Given the description of an element on the screen output the (x, y) to click on. 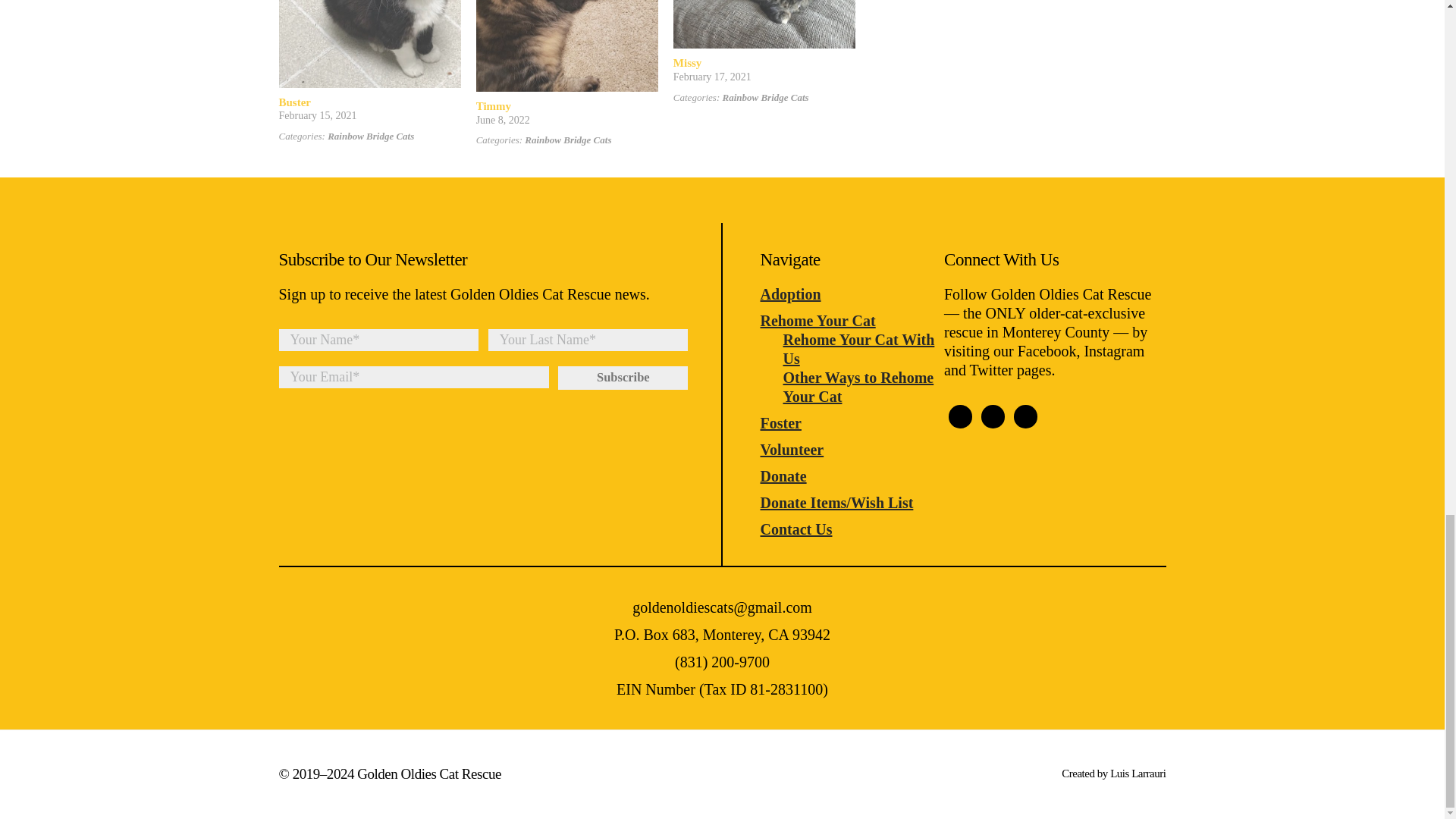
Subscribe (622, 377)
Permanent Link to Buster (295, 102)
Permanent Link to Timmy (493, 105)
Permanent Link to Missy (686, 62)
